Given the description of an element on the screen output the (x, y) to click on. 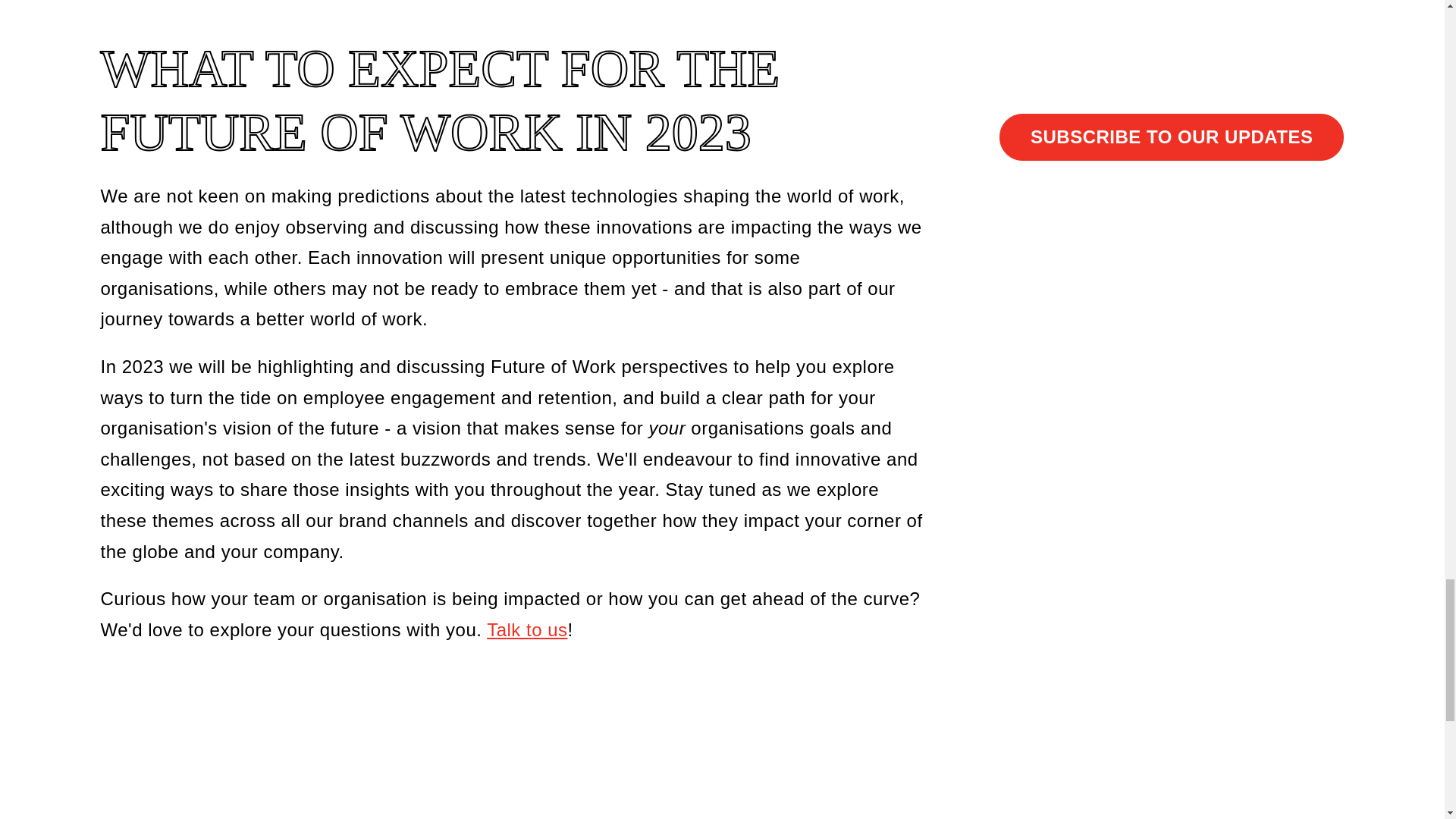
Talk to us (526, 629)
